Given the description of an element on the screen output the (x, y) to click on. 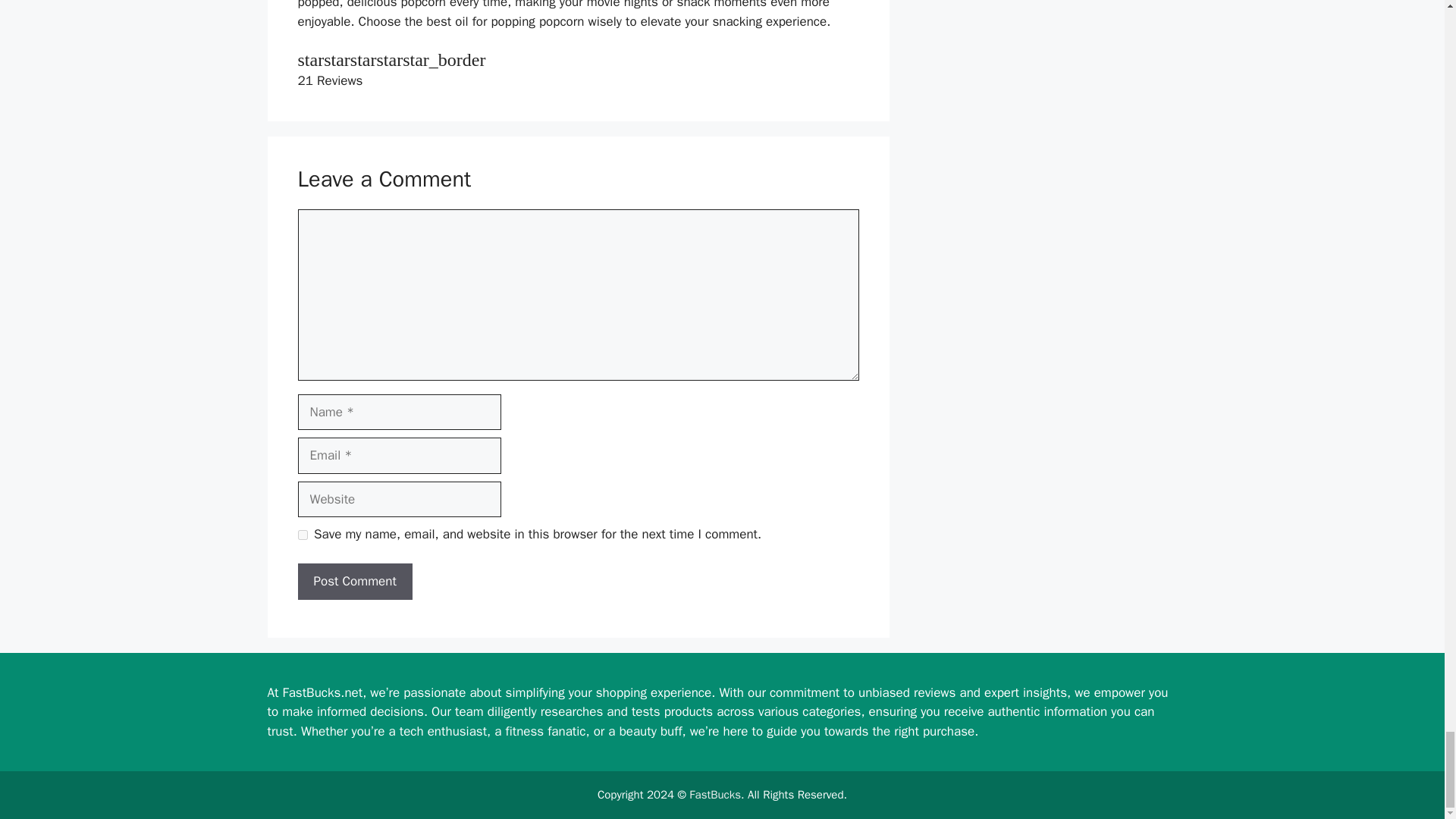
Post Comment (354, 581)
yes (302, 534)
